Given the description of an element on the screen output the (x, y) to click on. 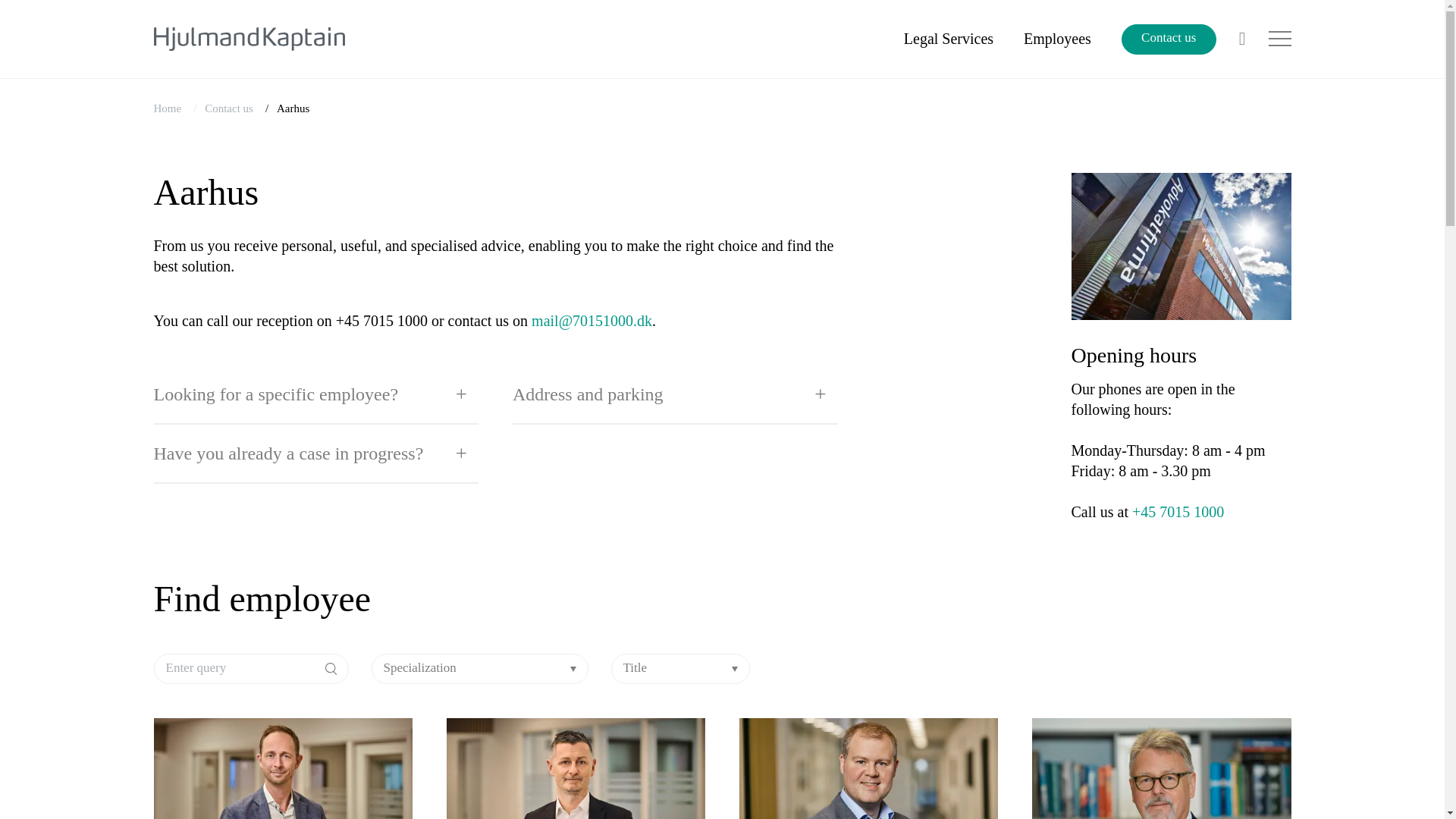
Home (166, 108)
Legal Services (948, 38)
Have you already a case in progress? (315, 454)
Address and parking (675, 395)
Contact us (229, 108)
Looking for a specific employee? (315, 395)
Contact us (1168, 39)
Employees (1056, 38)
